Given the description of an element on the screen output the (x, y) to click on. 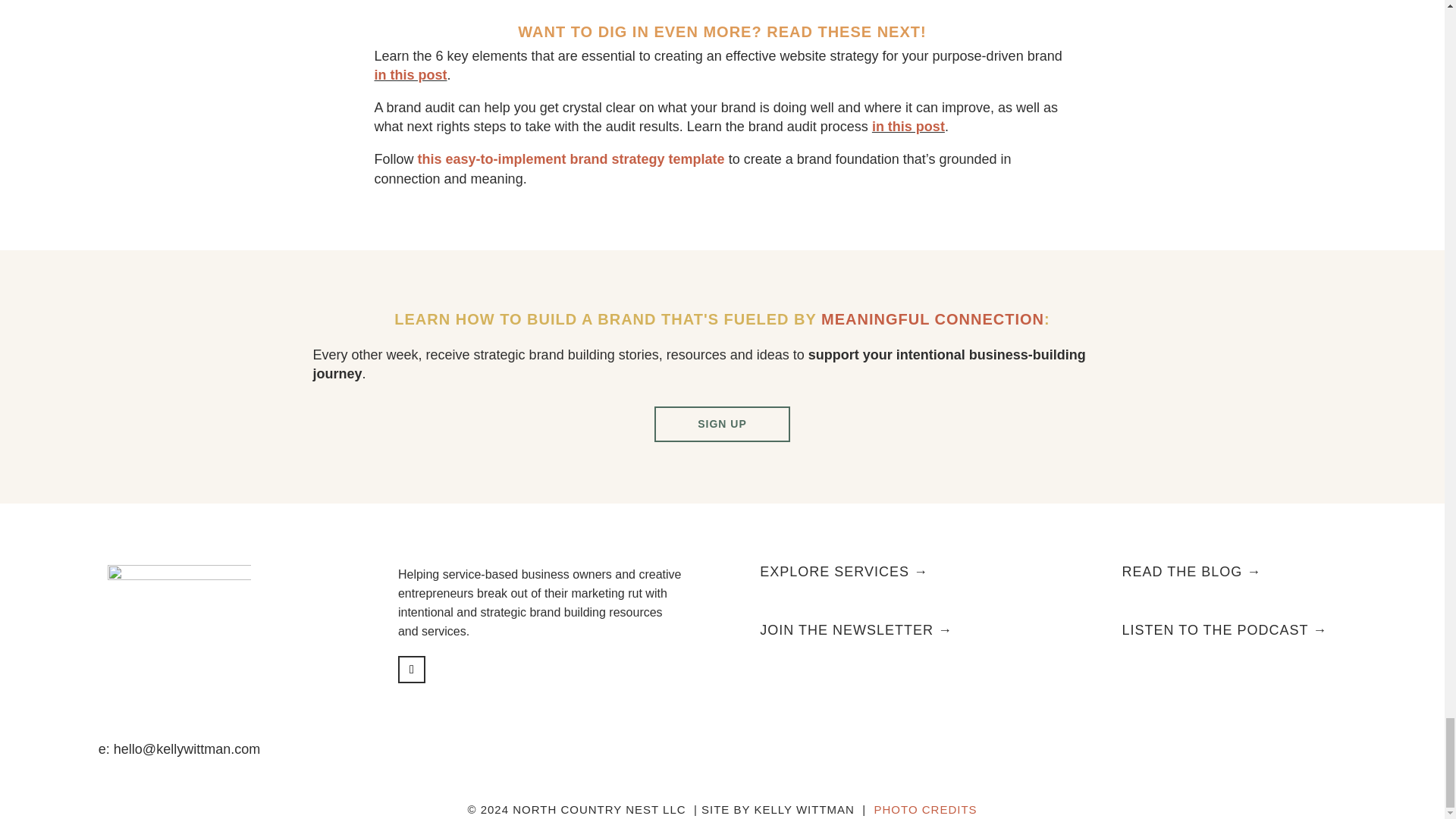
in this post (410, 74)
kw stacked (178, 633)
Follow on LinkedIn (411, 669)
PHOTO CREDITS (924, 809)
in this post (908, 126)
this easy-to-implement brand strategy template (571, 159)
SIGN UP (721, 424)
